Given the description of an element on the screen output the (x, y) to click on. 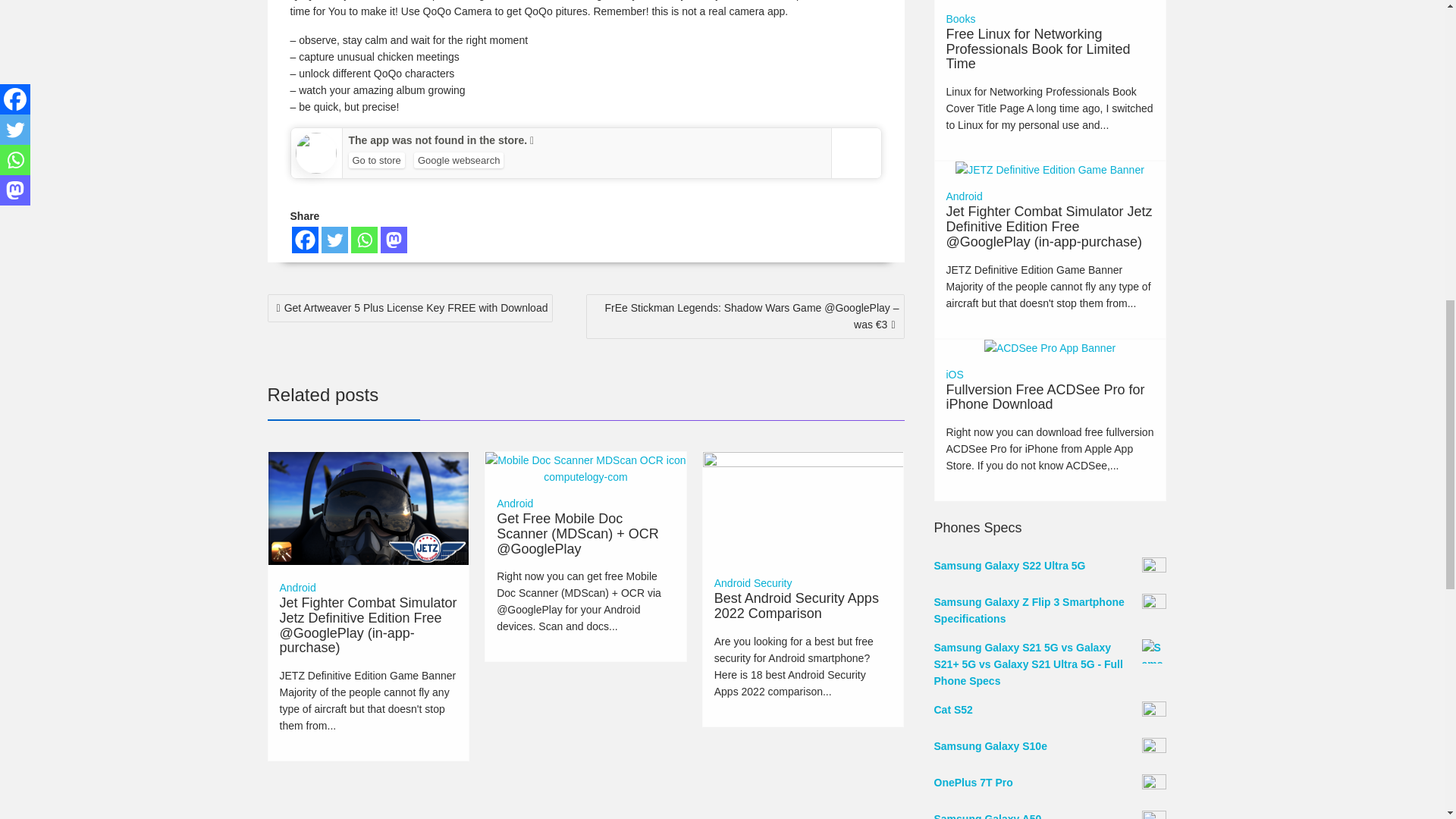
Go to store (376, 160)
Mastodon (393, 239)
Whatsapp (363, 239)
Facebook (304, 239)
Twitter (334, 239)
